Given the description of an element on the screen output the (x, y) to click on. 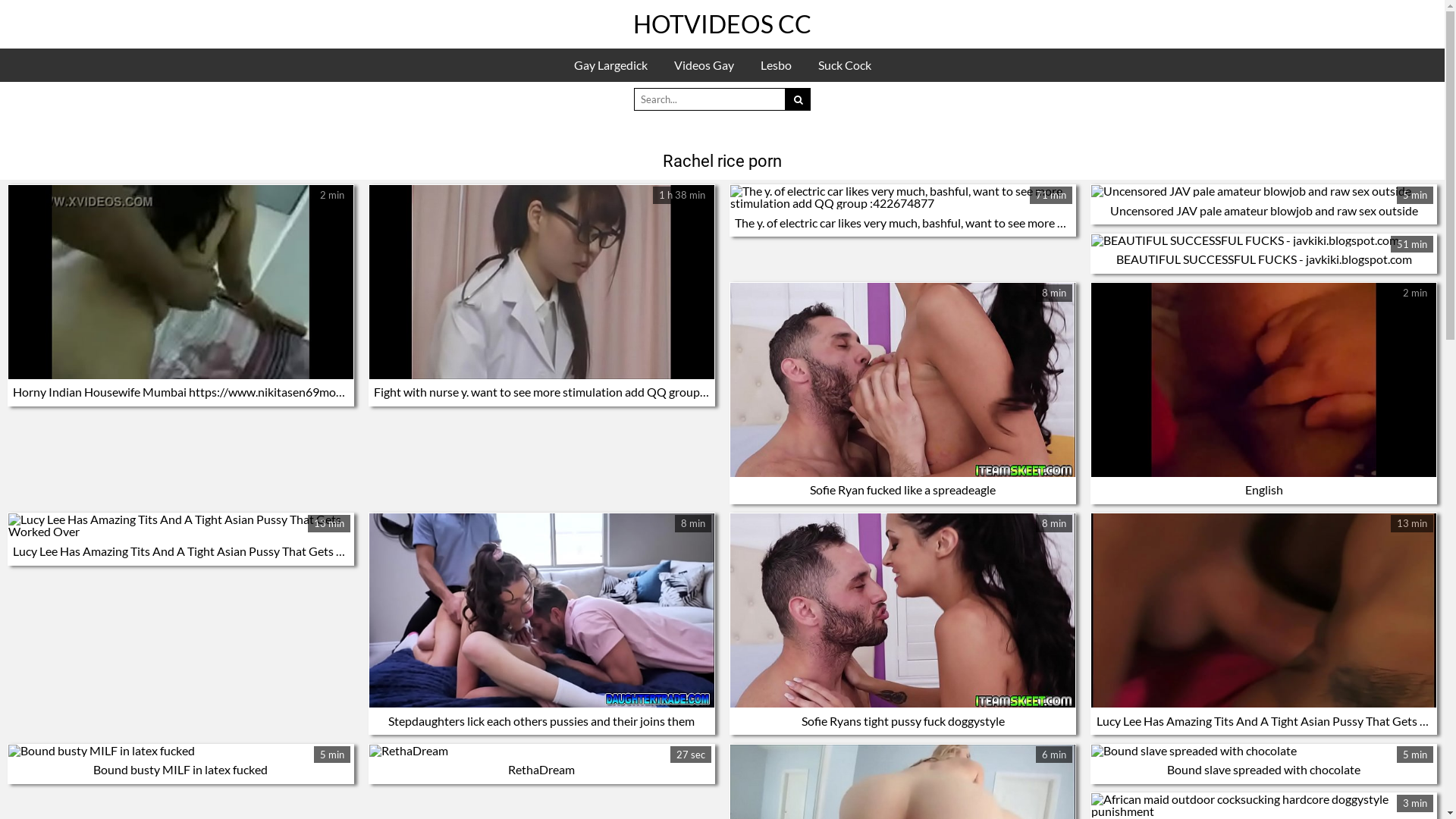
Sofie Ryan fucked like a spreadeagle Element type: hover (902, 379)
Videos Gay Element type: text (703, 64)
Bound busty MILF in latex fucked Element type: text (180, 769)
BEAUTIFUL SUCCESSFUL FUCKS - javkiki.blogspot.com Element type: hover (1263, 240)
English Element type: hover (1263, 379)
Bound slave spreaded with chocolate Element type: text (1263, 769)
Suck Cock Element type: text (843, 64)
Horny Indian Housewife Mumbai https://www.nikitasen69modele Element type: hover (180, 282)
Uncensored JAV pale amateur blowjob and raw sex outside Element type: hover (1263, 191)
Sofie Ryans tight pussy fuck doggystyle Element type: hover (902, 610)
Lesbo Element type: text (775, 64)
Stepdaughters lick each others pussies and their joins them Element type: hover (541, 610)
Bound busty MILF in latex fucked Element type: hover (180, 750)
RethaDream Element type: text (541, 769)
Sofie Ryans tight pussy fuck doggystyle Element type: text (902, 720)
RethaDream Element type: hover (541, 750)
Uncensored JAV pale amateur blowjob and raw sex outside Element type: text (1264, 210)
HOTVIDEOS CC Element type: text (722, 24)
Bound slave spreaded with chocolate Element type: hover (1263, 750)
BEAUTIFUL SUCCESSFUL FUCKS - javkiki.blogspot.com Element type: text (1264, 258)
Stepdaughters lick each others pussies and their joins them Element type: text (541, 720)
Horny Indian Housewife Mumbai https://www.nikitasen69modele Element type: text (184, 391)
Gay Largedick Element type: text (609, 64)
Sofie Ryan fucked like a spreadeagle Element type: text (902, 489)
English Element type: text (1264, 489)
